Given the description of an element on the screen output the (x, y) to click on. 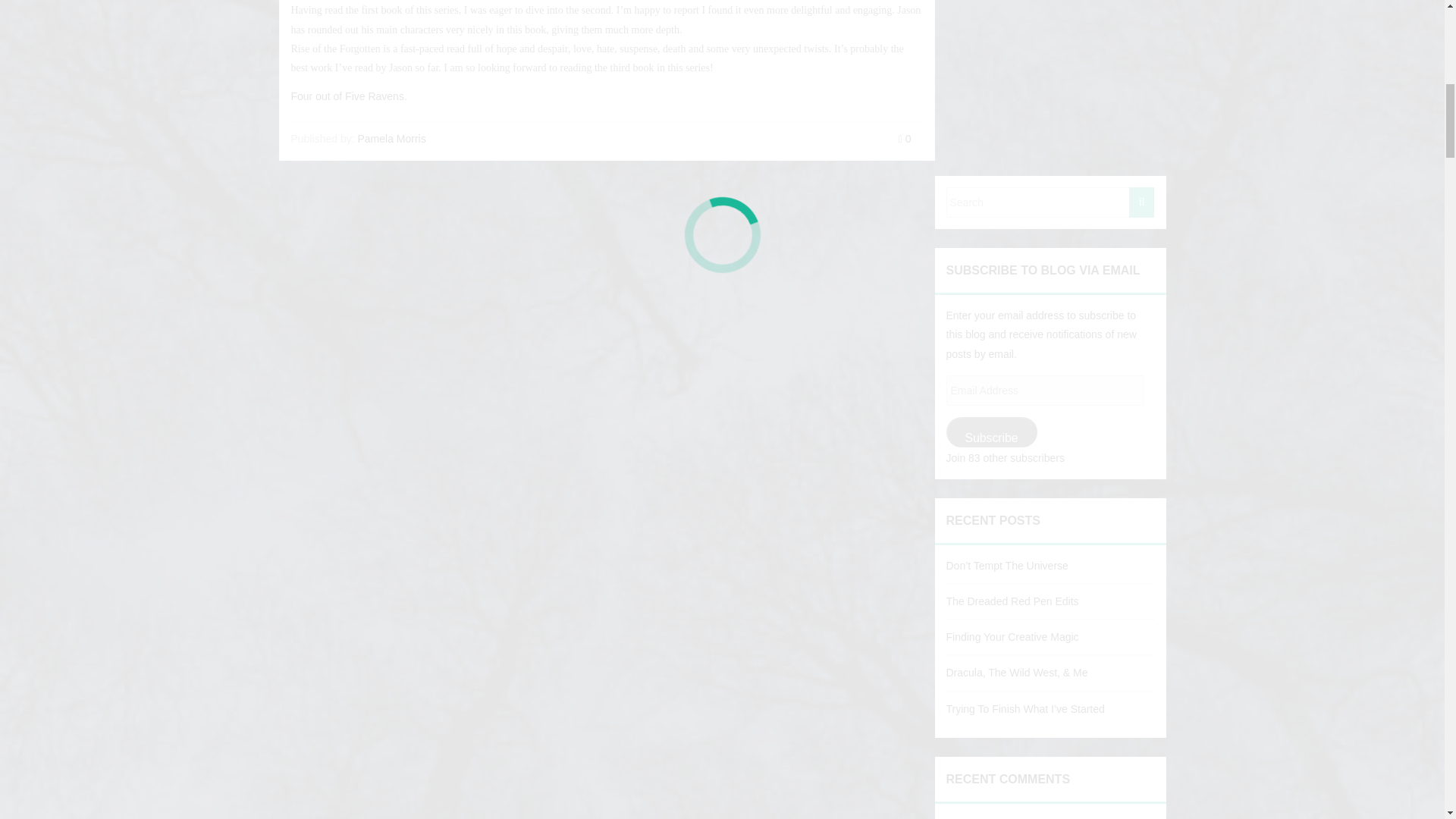
Subscribe (991, 431)
0 (904, 138)
Pamela Morris (390, 138)
